Given the description of an element on the screen output the (x, y) to click on. 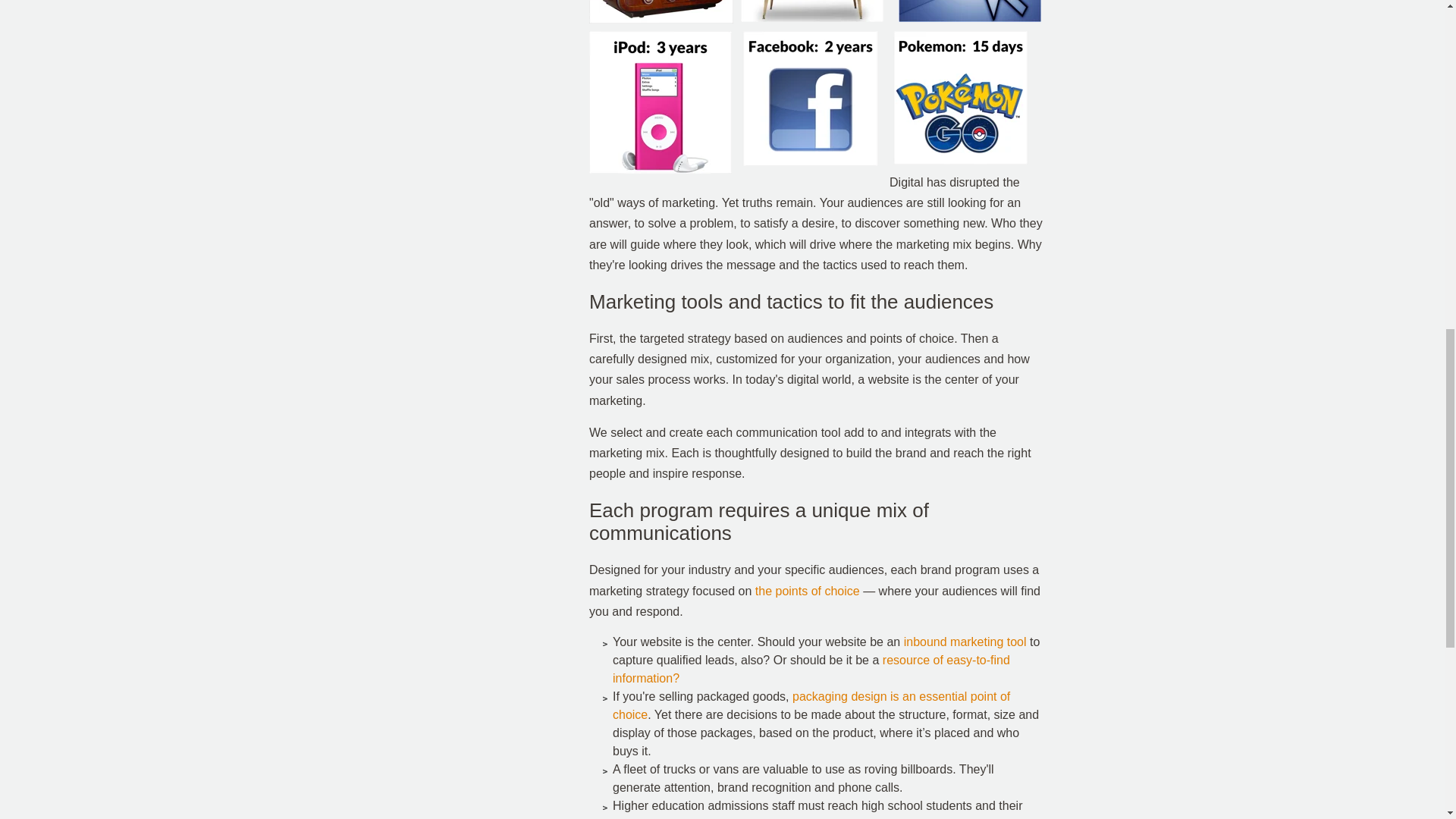
Add online tactics to get results. (965, 641)
